Given the description of an element on the screen output the (x, y) to click on. 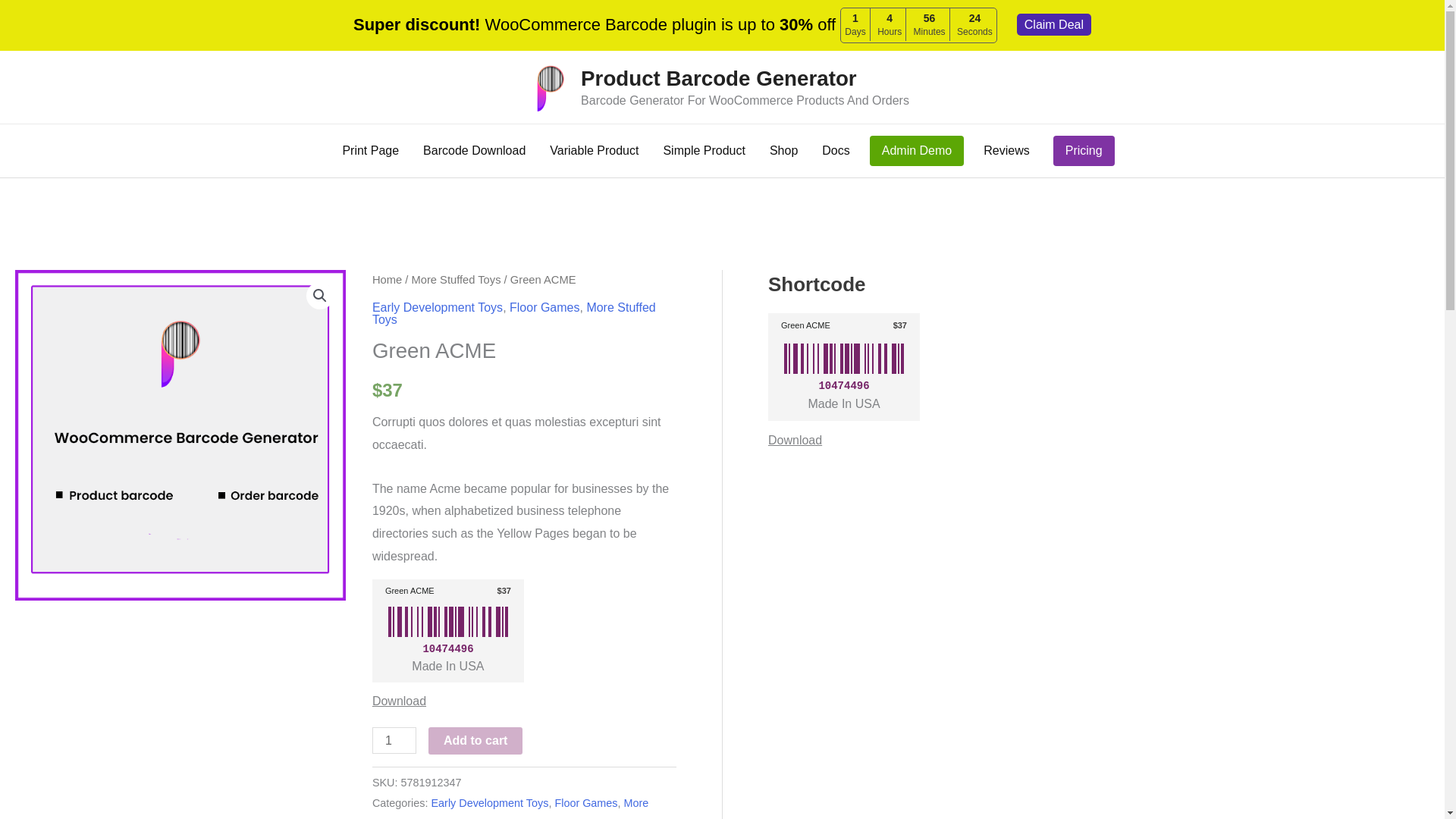
More Stuffed Toys (514, 313)
Simple Product (703, 150)
More Stuffed Toys (509, 807)
Pricing (1083, 150)
Admin Demo (916, 150)
Early Development Toys (489, 802)
Product Barcode Generator (718, 78)
Barcode Download (473, 150)
Shop (783, 150)
Claim Deal (1053, 24)
1 (394, 740)
Early Development Toys (437, 307)
More Stuffed Toys (455, 279)
Reviews (1006, 150)
Floor Games (544, 307)
